Given the description of an element on the screen output the (x, y) to click on. 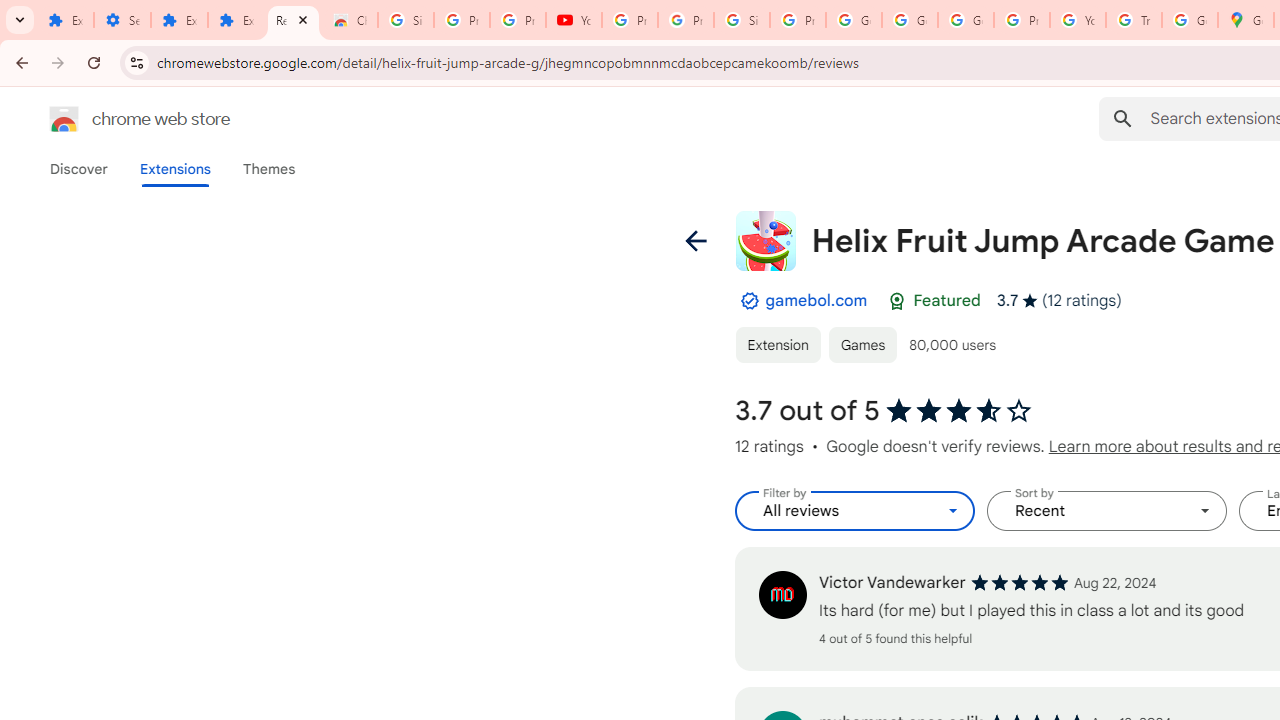
Chrome Web Store logo chrome web store (118, 118)
By Established Publisher Badge (749, 301)
Chrome Web Store - Themes (349, 20)
Chrome Web Store logo (63, 118)
Navigate back to item detail page (694, 240)
YouTube (573, 20)
Extensions (179, 20)
Filter by All reviews (854, 511)
